Given the description of an element on the screen output the (x, y) to click on. 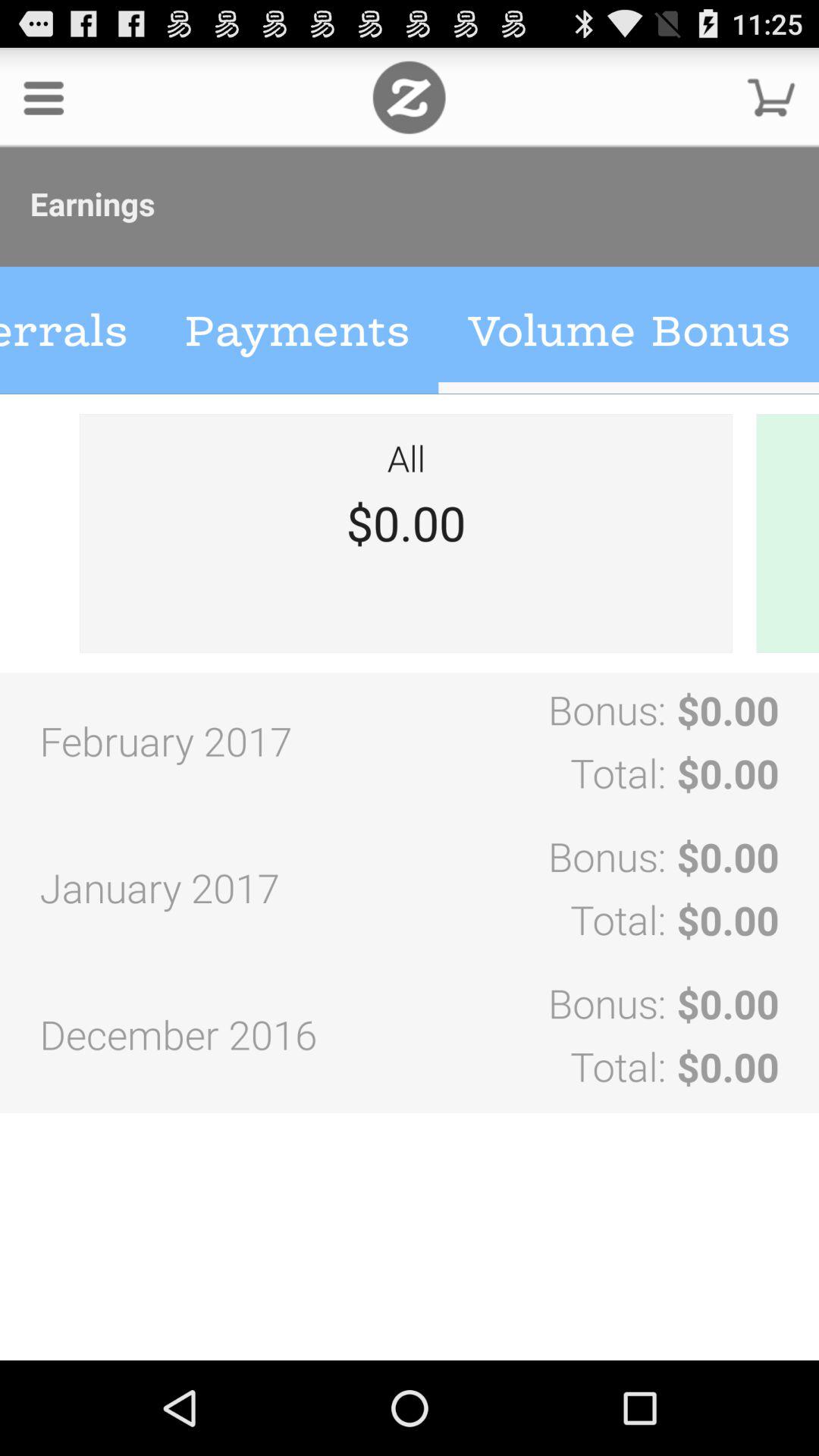
go to home screen (408, 97)
